Given the description of an element on the screen output the (x, y) to click on. 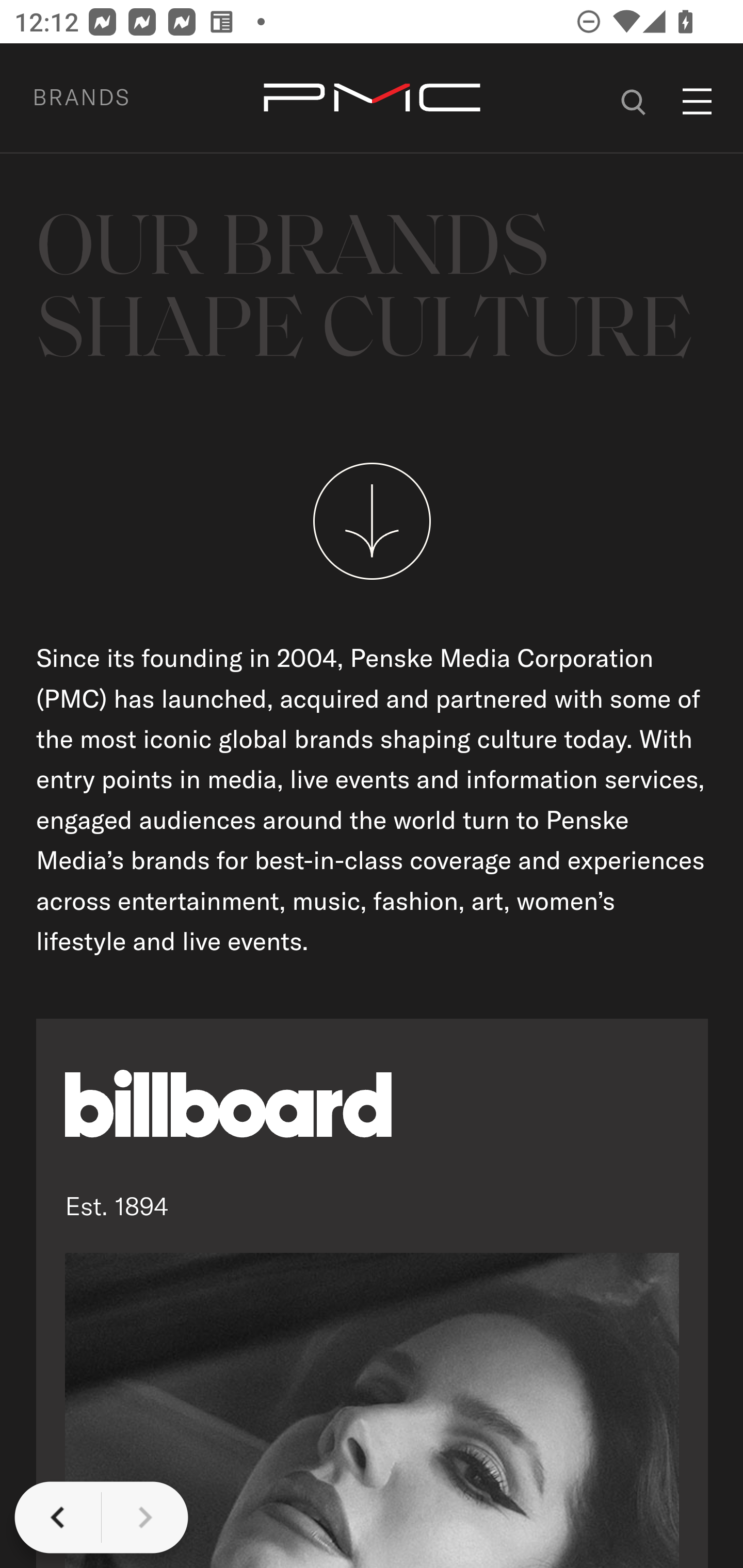
home (371, 98)
BRANDS (105, 96)
# (633, 98)
menu (697, 101)
Est. 1894 Est. 1894 (372, 1292)
